Given the description of an element on the screen output the (x, y) to click on. 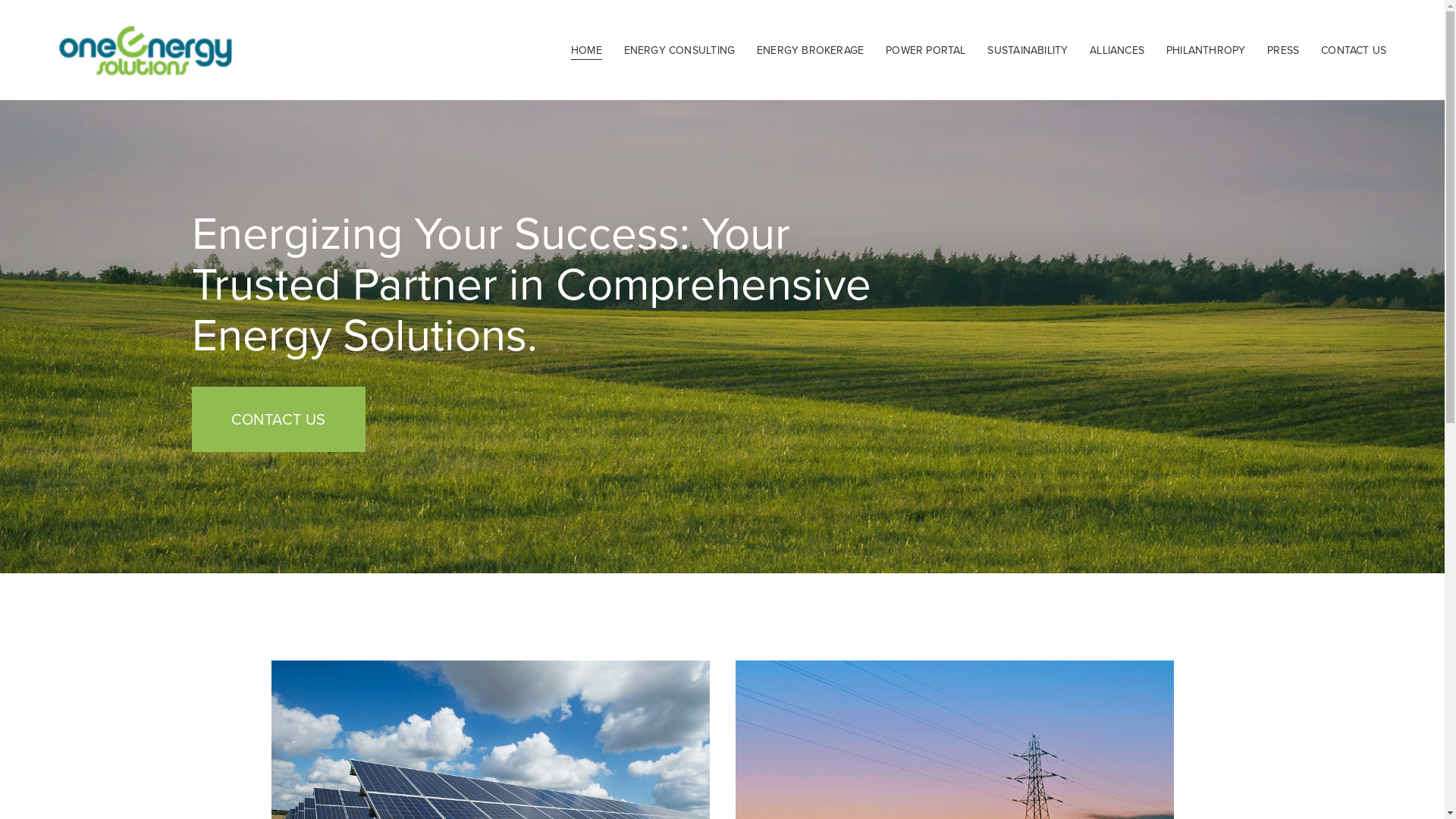
ENERGY BROKERAGE Element type: text (809, 49)
CONTACT US Element type: text (1353, 49)
PHILANTHROPY Element type: text (1205, 49)
CONTACT US Element type: text (277, 418)
HOME Element type: text (586, 49)
ALLIANCES Element type: text (1116, 49)
SUSTAINABILITY Element type: text (1027, 49)
PRESS Element type: text (1283, 49)
ENERGY CONSULTING Element type: text (679, 49)
POWER PORTAL Element type: text (925, 49)
